Given the description of an element on the screen output the (x, y) to click on. 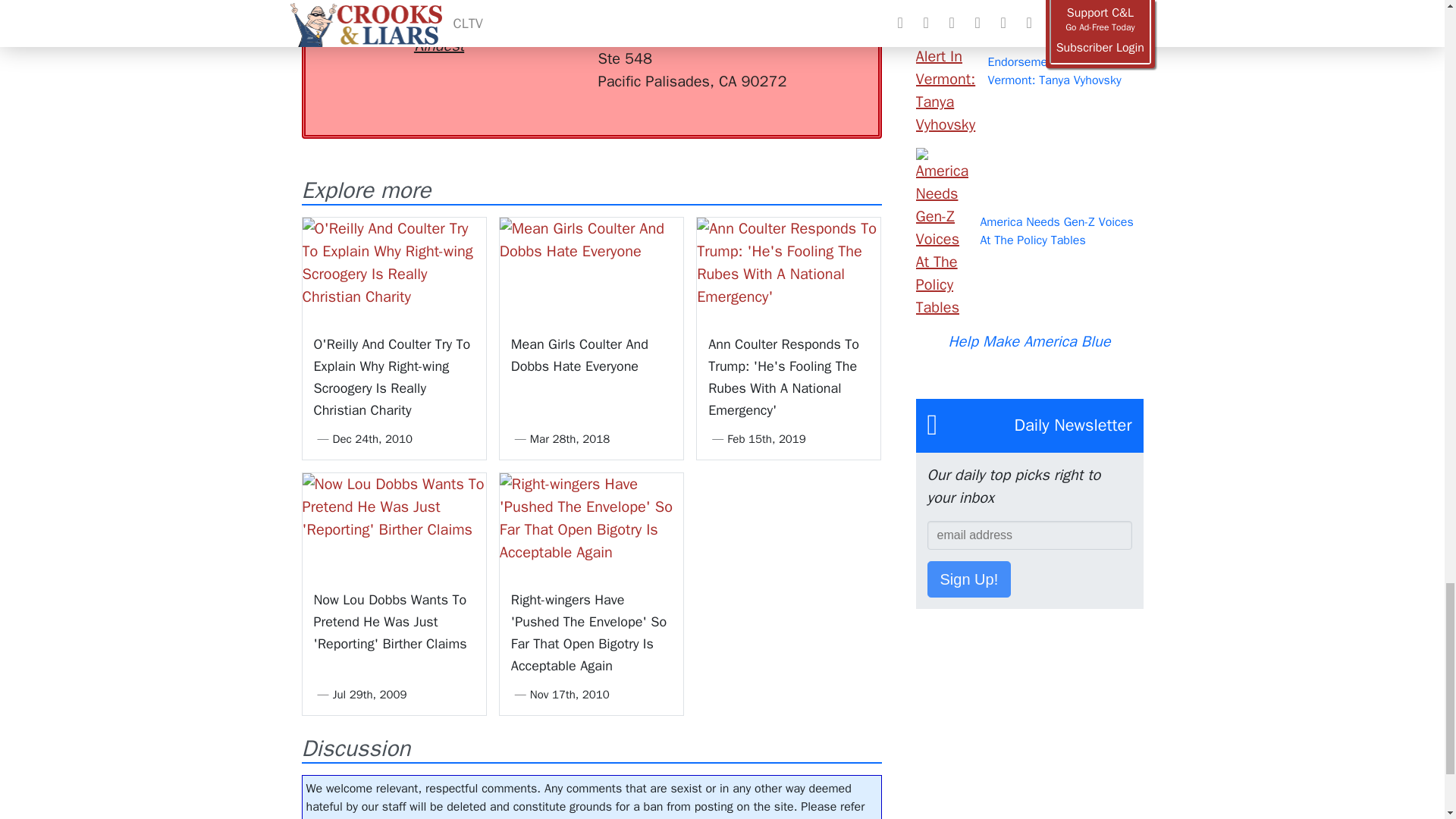
Donate via PayPal (540, 17)
Donate via PayPal (540, 17)
Kindest (438, 28)
Donate via Kindest (438, 28)
